Given the description of an element on the screen output the (x, y) to click on. 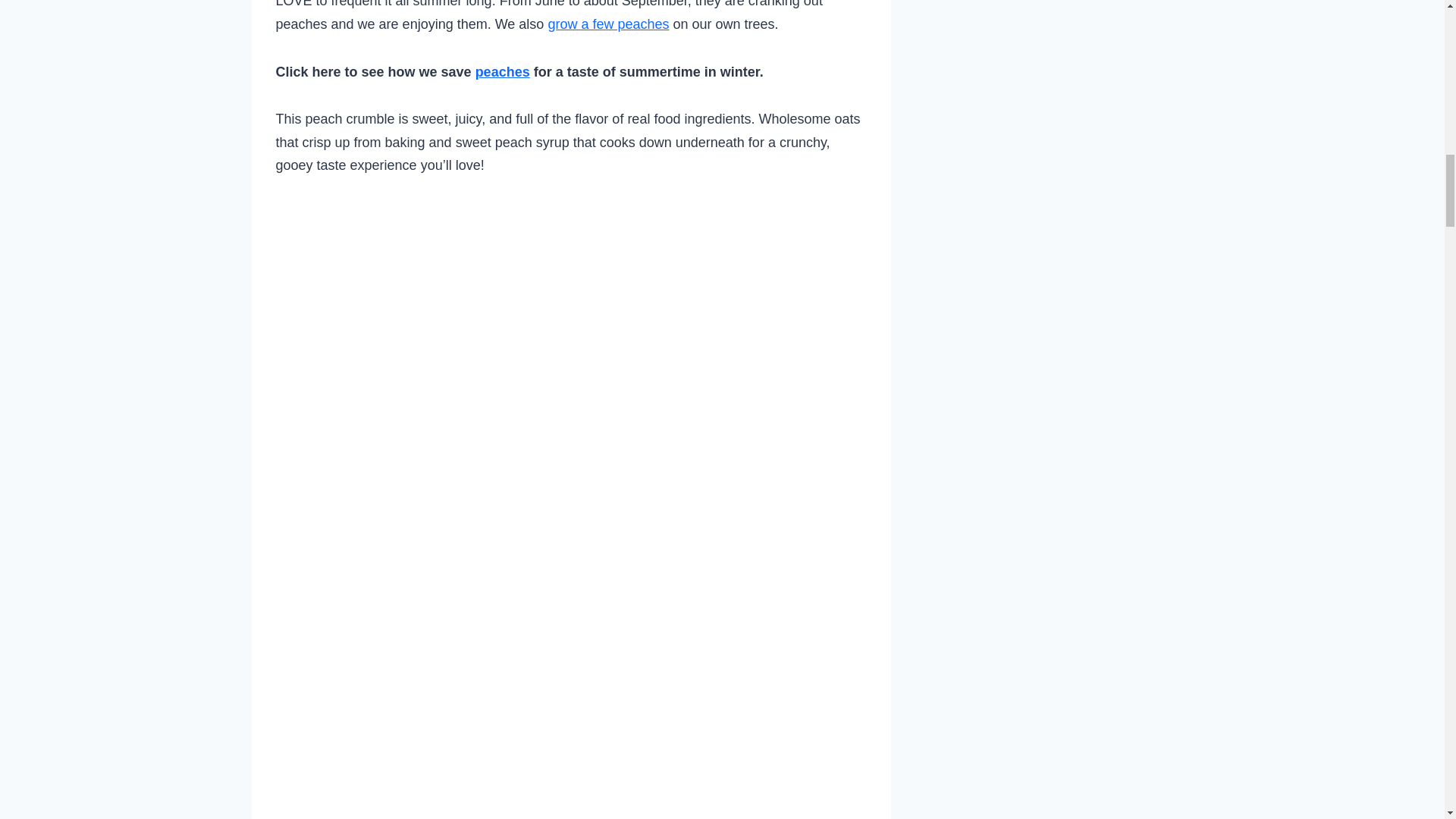
grow a few peaches (607, 23)
peaches (502, 71)
